Given the description of an element on the screen output the (x, y) to click on. 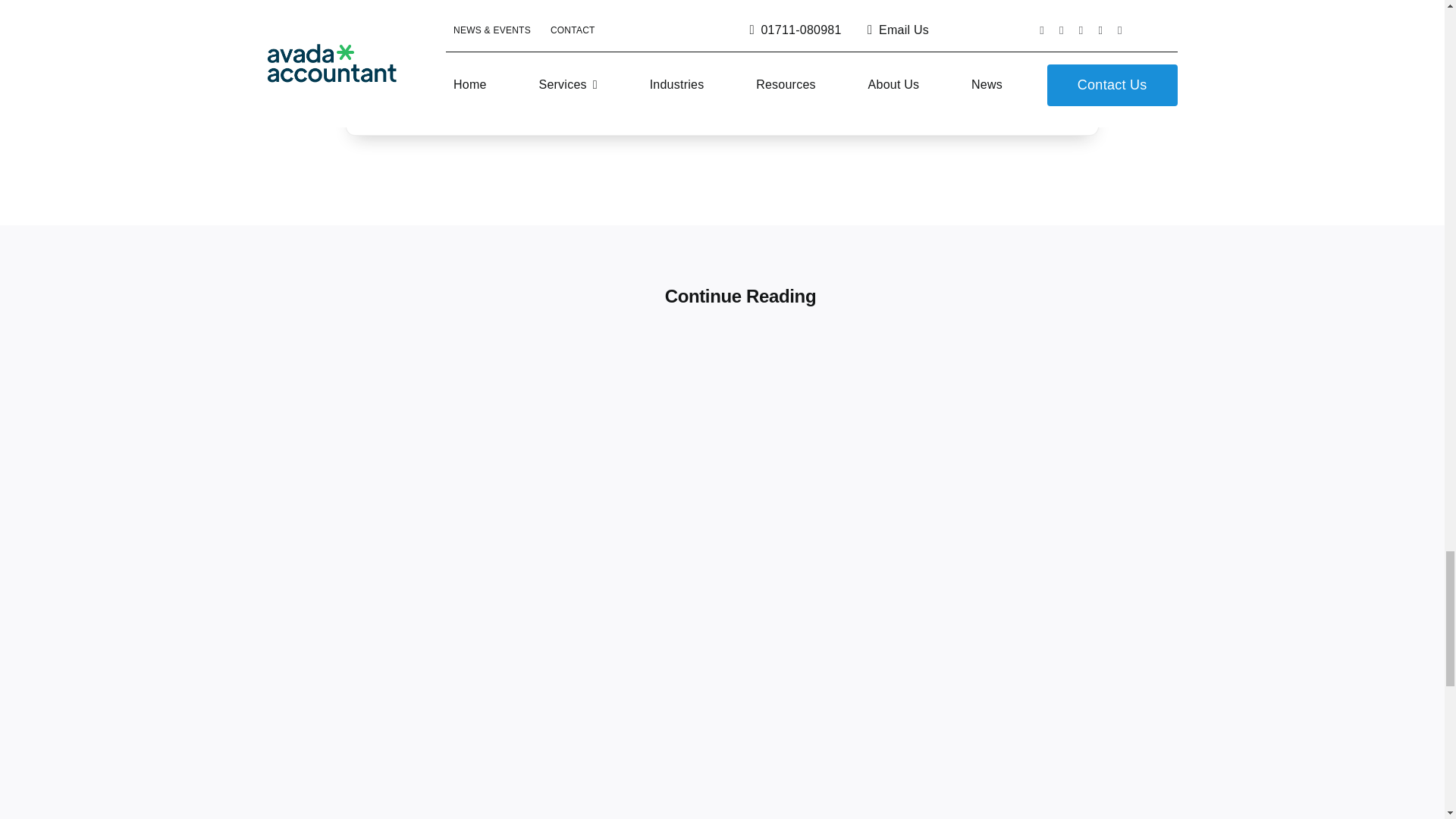
Subscribe (875, 52)
